Given the description of an element on the screen output the (x, y) to click on. 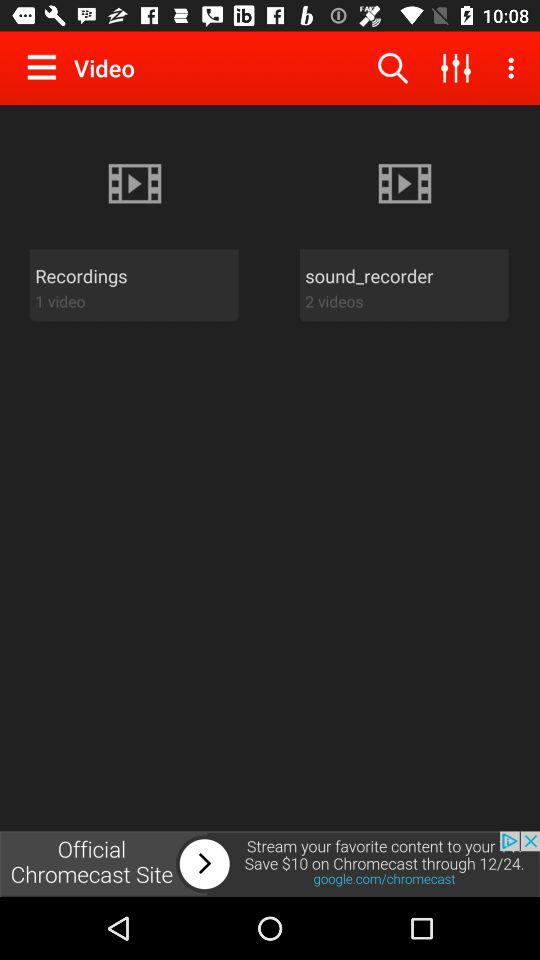
select chromecast advertisement (270, 864)
